Given the description of an element on the screen output the (x, y) to click on. 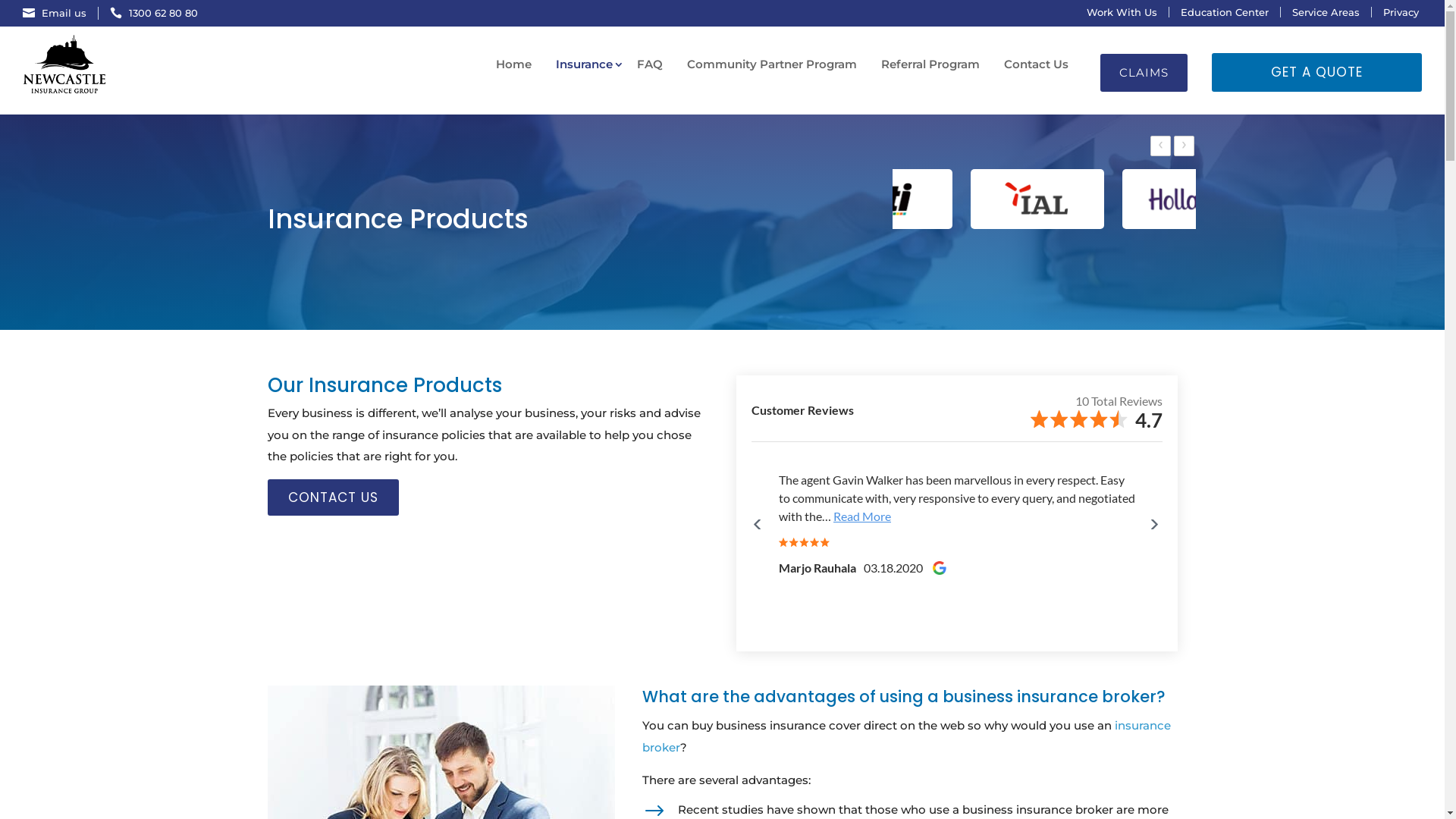
Insurance Element type: text (584, 63)
Service Areas Element type: text (1325, 11)
CLAIMS Element type: text (1143, 72)
Home Element type: text (513, 63)
Referral Program Element type: text (930, 63)
FAQ Element type: text (649, 63)
GET A QUOTE Element type: text (1316, 72)
Community Partner Program Element type: text (771, 63)
Work With Us Element type: text (1122, 11)
Contact Us Element type: text (1036, 63)
insurance broker Element type: text (906, 736)
Education Center Element type: text (1224, 11)
CONTACT US Element type: text (332, 497)
Privacy Element type: text (1400, 11)
